Given the description of an element on the screen output the (x, y) to click on. 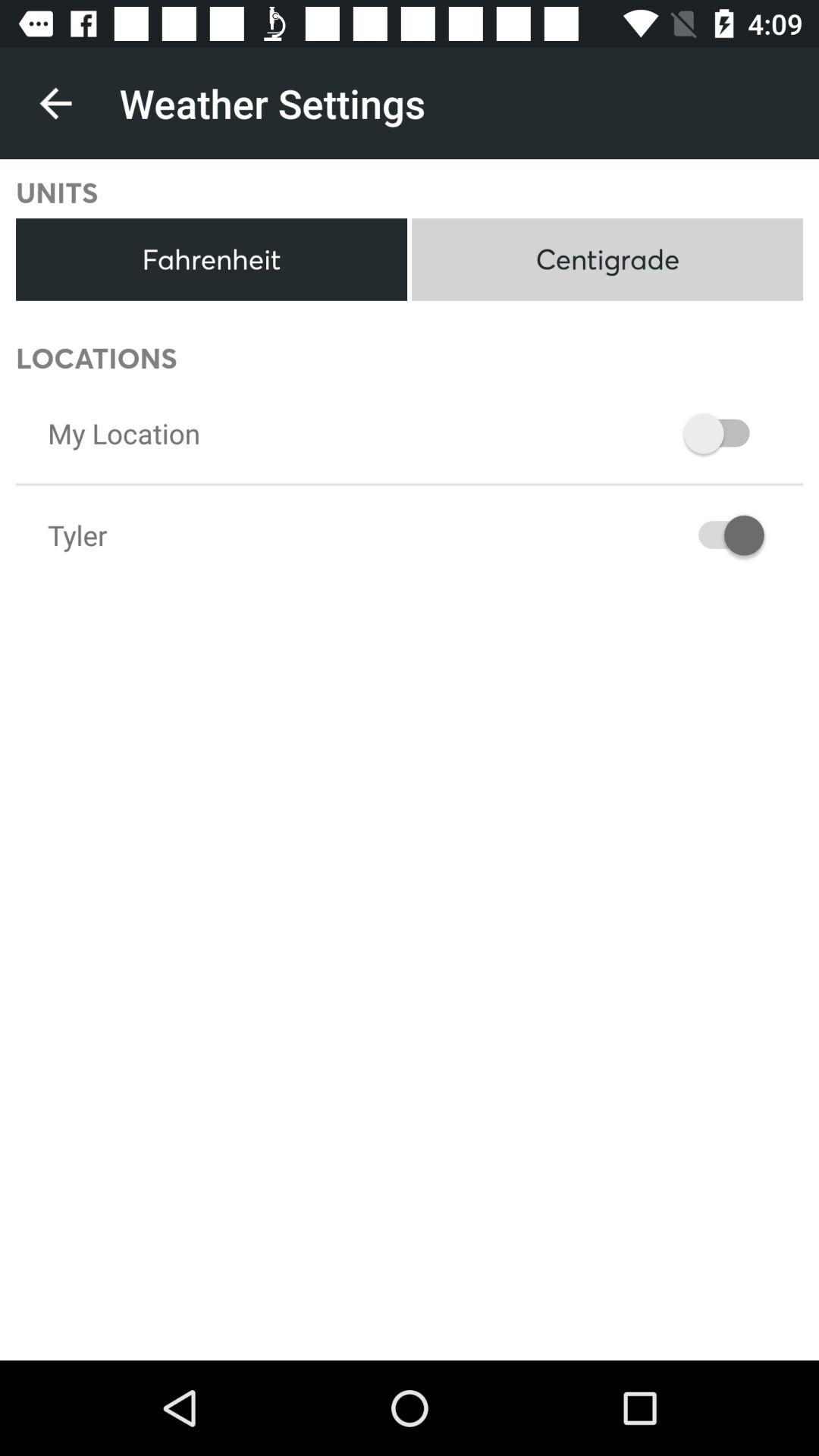
turn off tyler icon (77, 534)
